Given the description of an element on the screen output the (x, y) to click on. 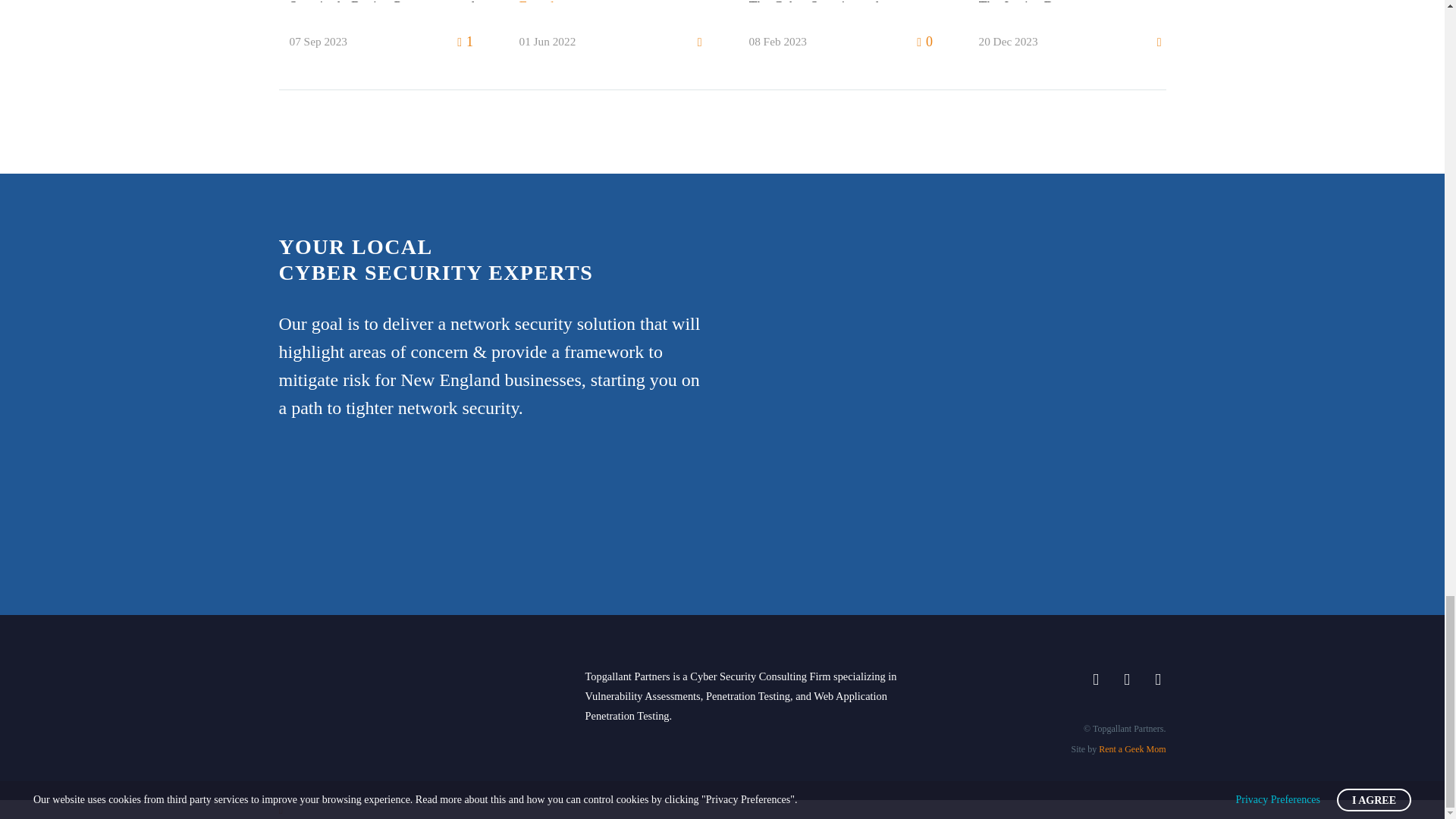
Like this (466, 41)
